Given the description of an element on the screen output the (x, y) to click on. 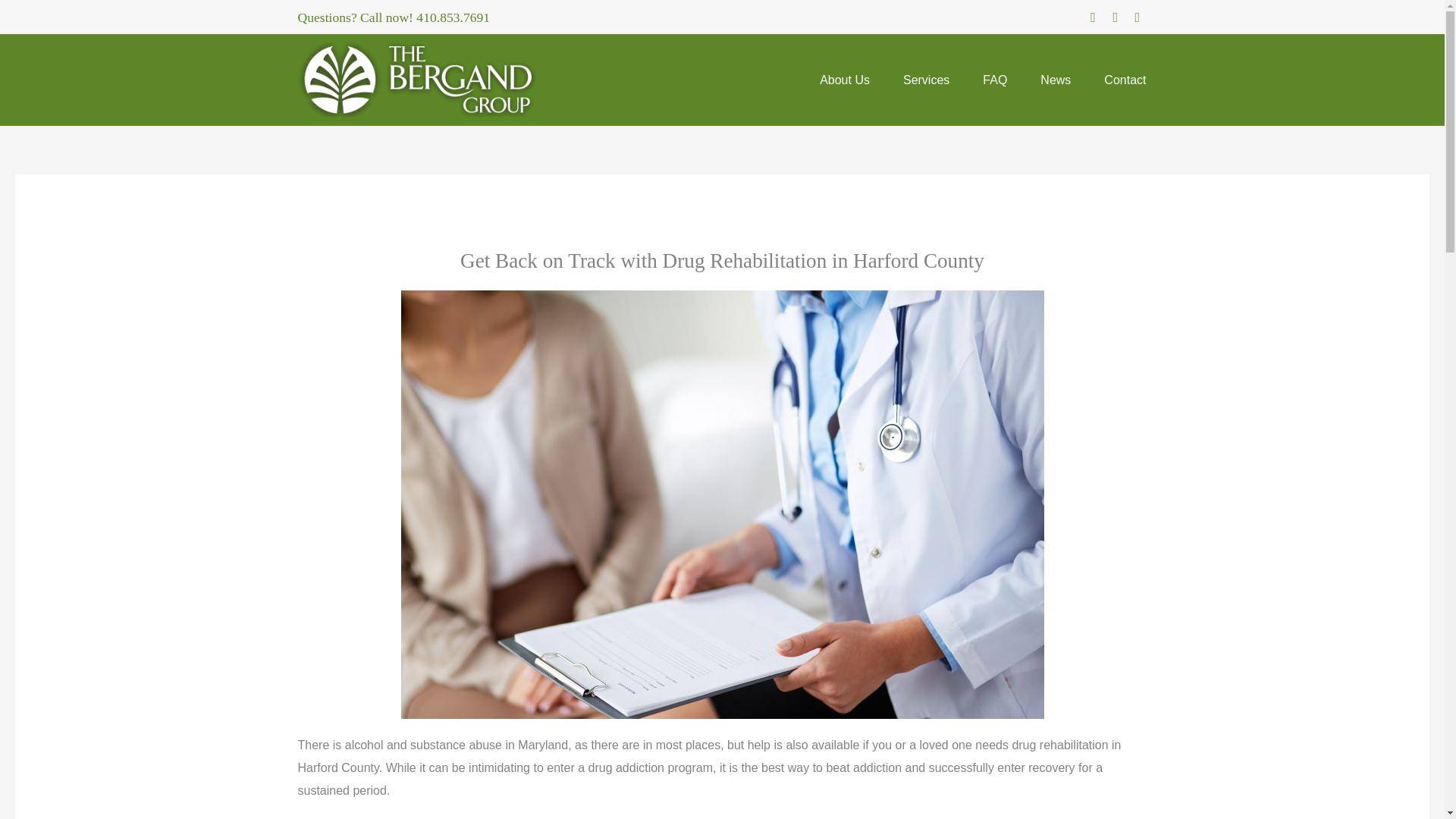
Contact (1125, 80)
Instagram (1114, 16)
Twitter (1136, 16)
Services (926, 80)
About Us (844, 80)
FAQ (994, 80)
Facebook (1092, 16)
News (1055, 80)
